Given the description of an element on the screen output the (x, y) to click on. 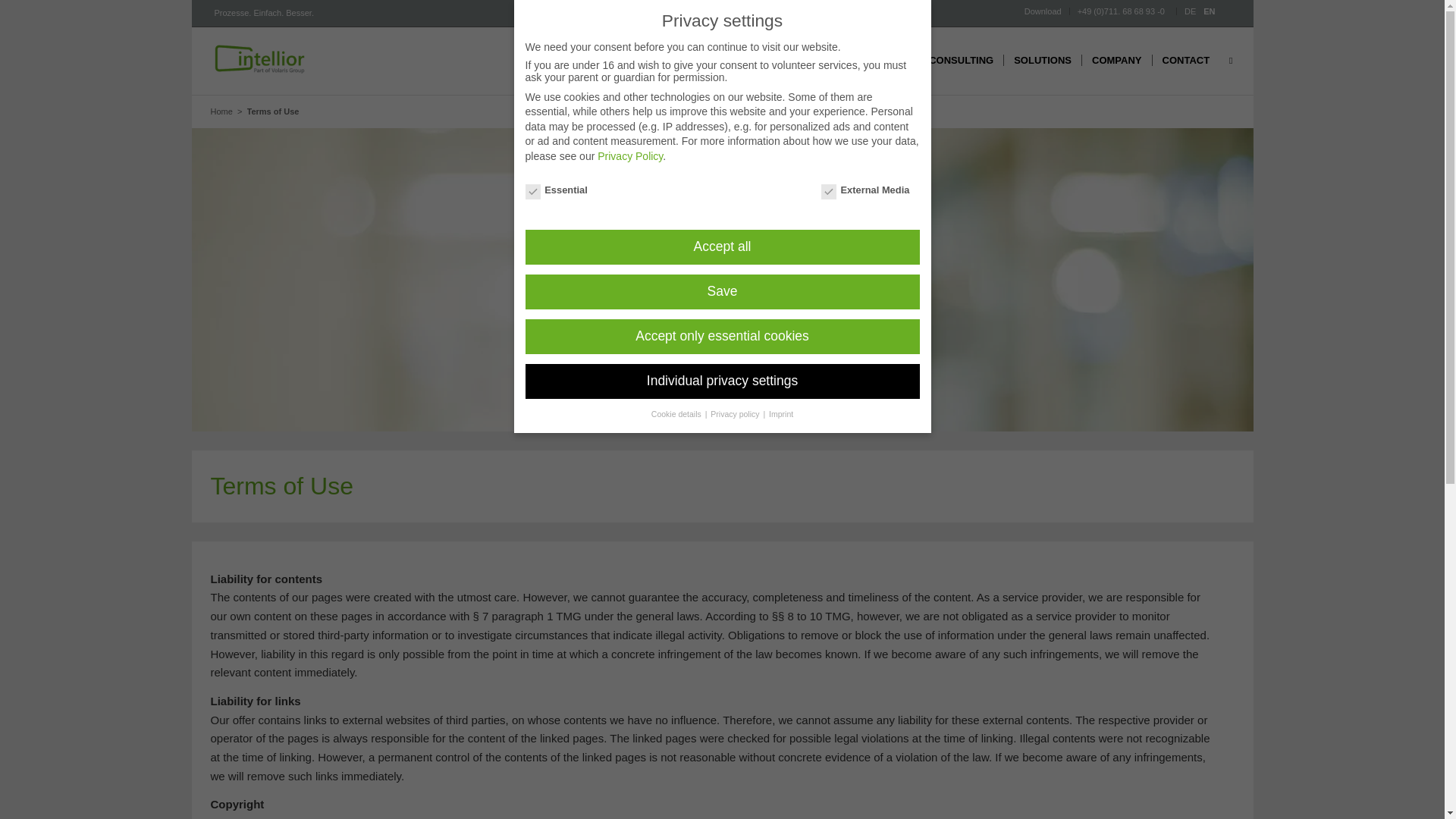
SOFTWARE (880, 60)
Go to Intellior. (221, 111)
Home (221, 111)
CONSULTING (960, 60)
